Given the description of an element on the screen output the (x, y) to click on. 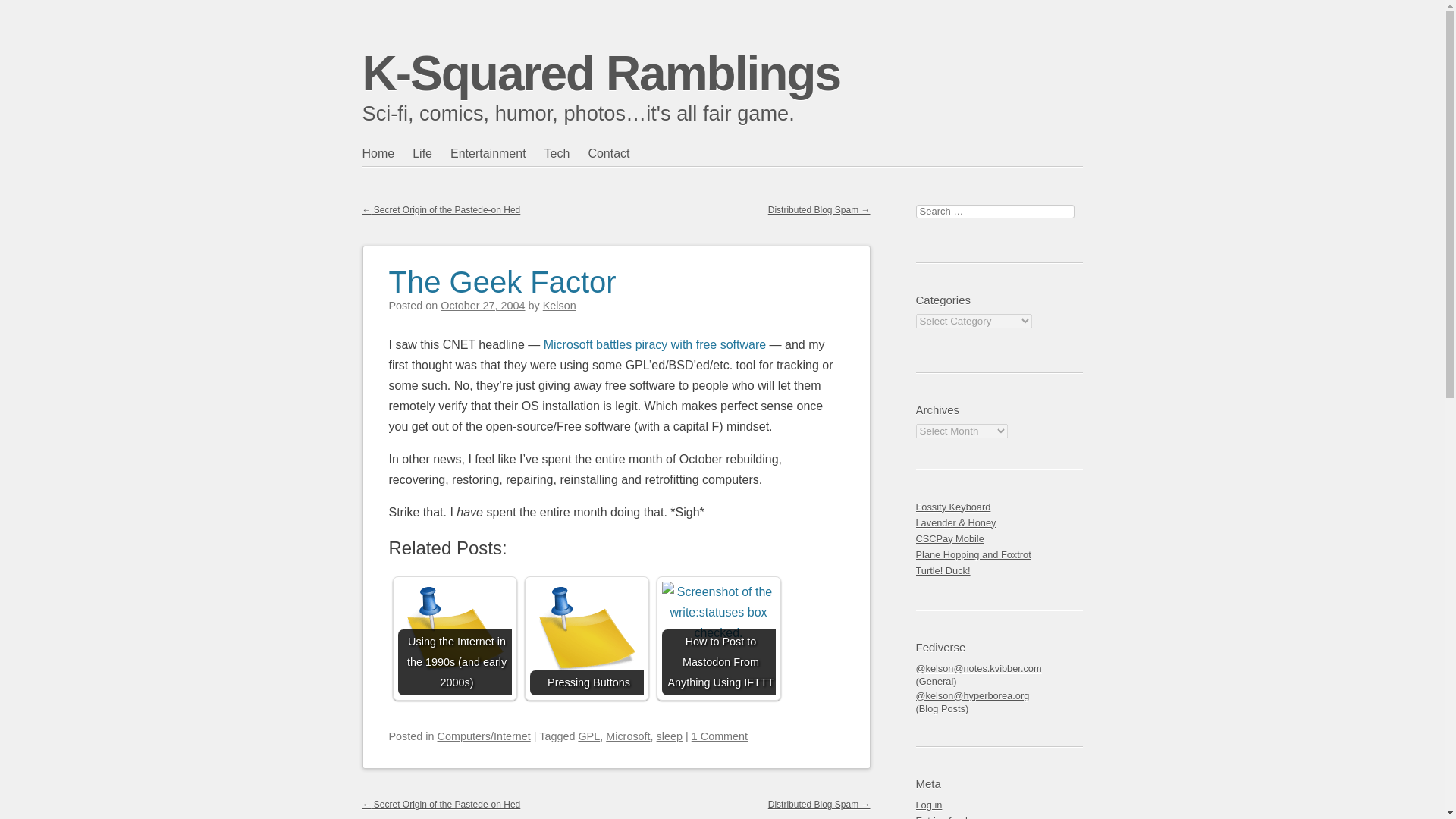
K-Squared Ramblings (601, 72)
Log in (999, 804)
Turtle! Duck! (999, 570)
Microsoft battles piracy with free software (654, 344)
Fossify Keyboard (999, 506)
How to Post to Mastodon From Anything Using IFTTT (717, 638)
Main menu (435, 183)
View all posts by Kelson (559, 305)
1 Comment (719, 736)
Entertainment (496, 153)
